Given the description of an element on the screen output the (x, y) to click on. 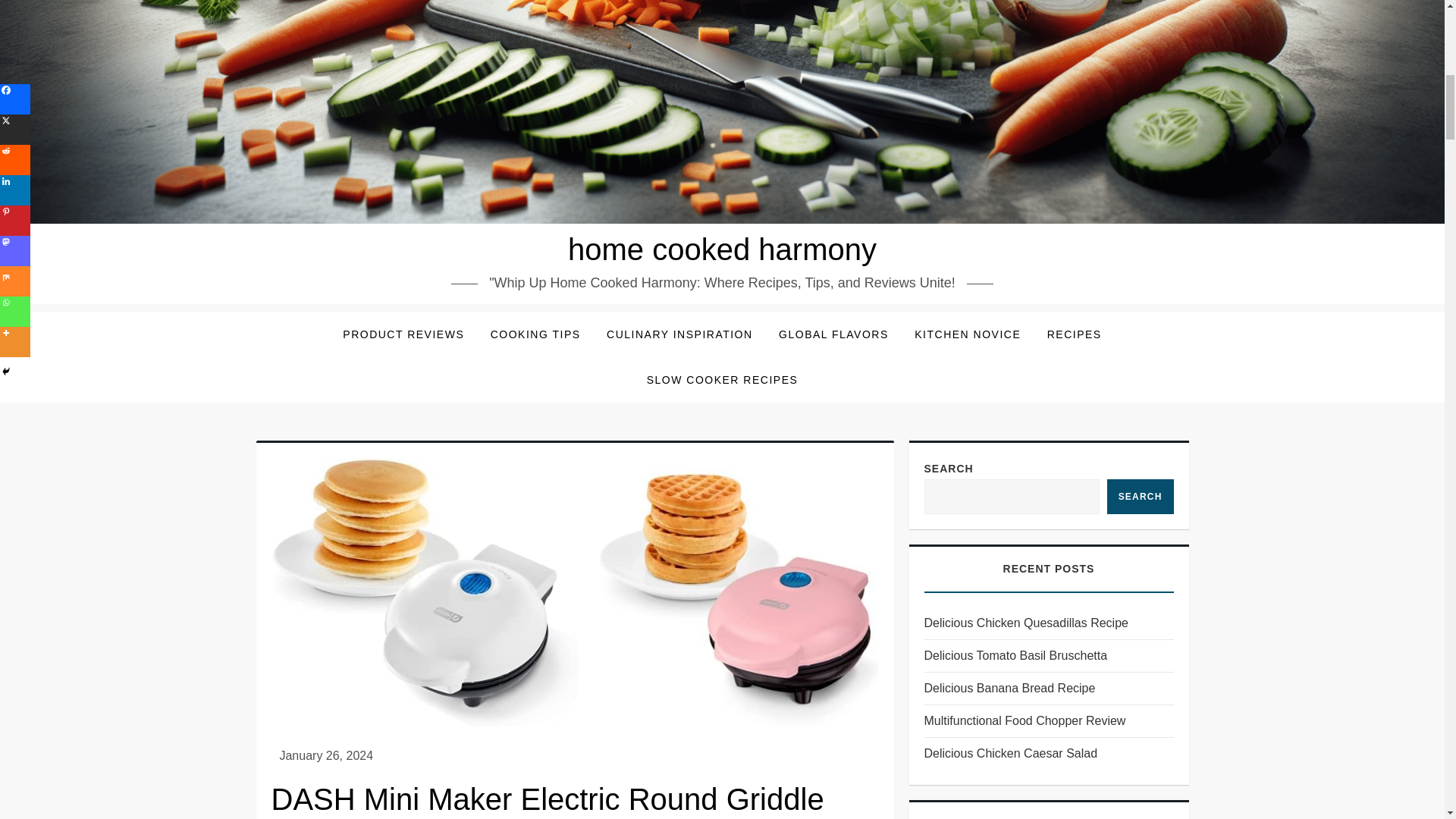
home cooked harmony (721, 249)
KITCHEN NOVICE (967, 334)
RECIPES (1074, 334)
PRODUCT REVIEWS (403, 334)
SLOW COOKER RECIPES (721, 379)
January 26, 2024 (325, 755)
GLOBAL FLAVORS (833, 334)
CULINARY INSPIRATION (679, 334)
COOKING TIPS (535, 334)
